Given the description of an element on the screen output the (x, y) to click on. 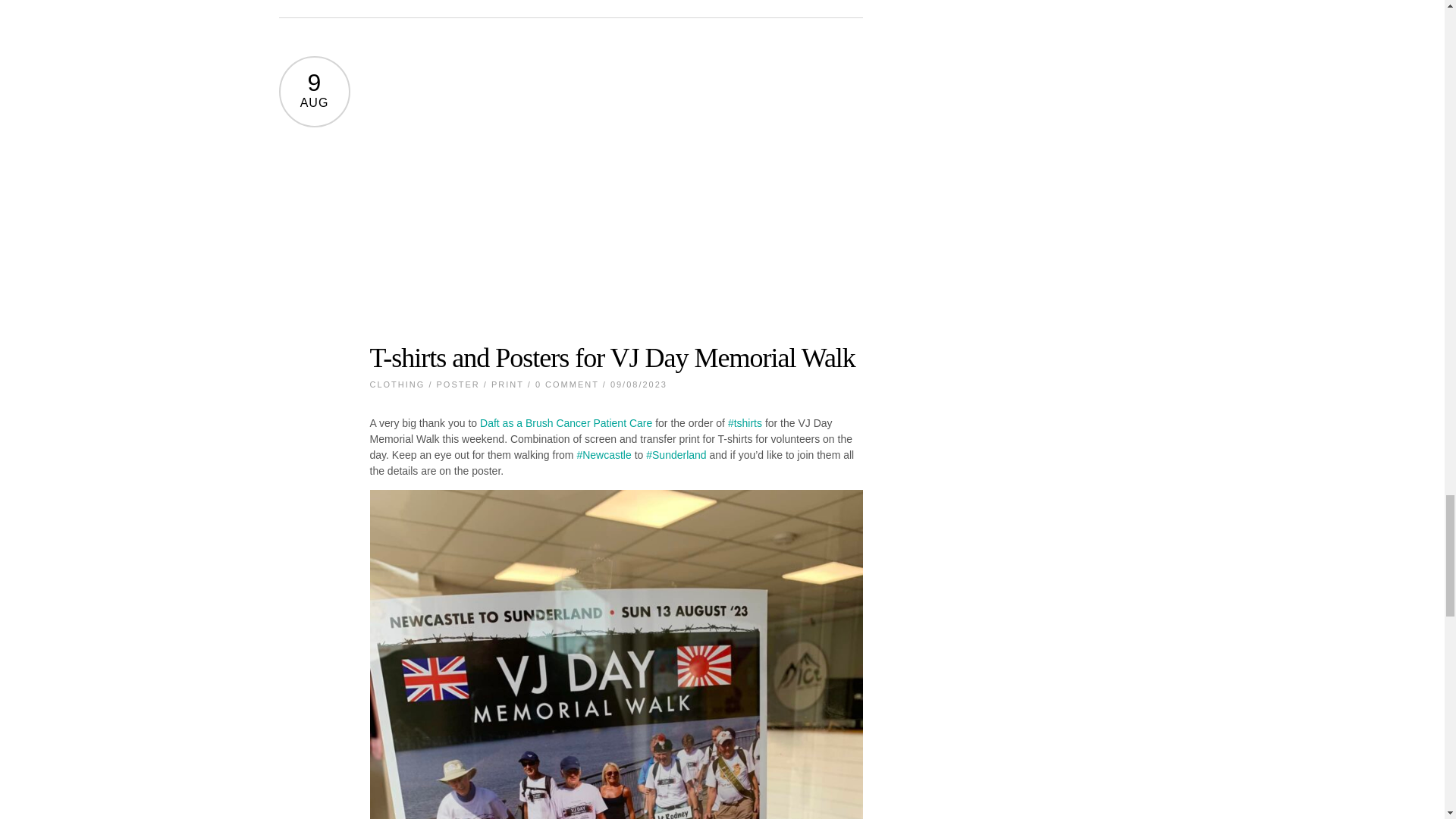
T-shirts and Posters for VJ Day Memorial Walk (612, 358)
